Given the description of an element on the screen output the (x, y) to click on. 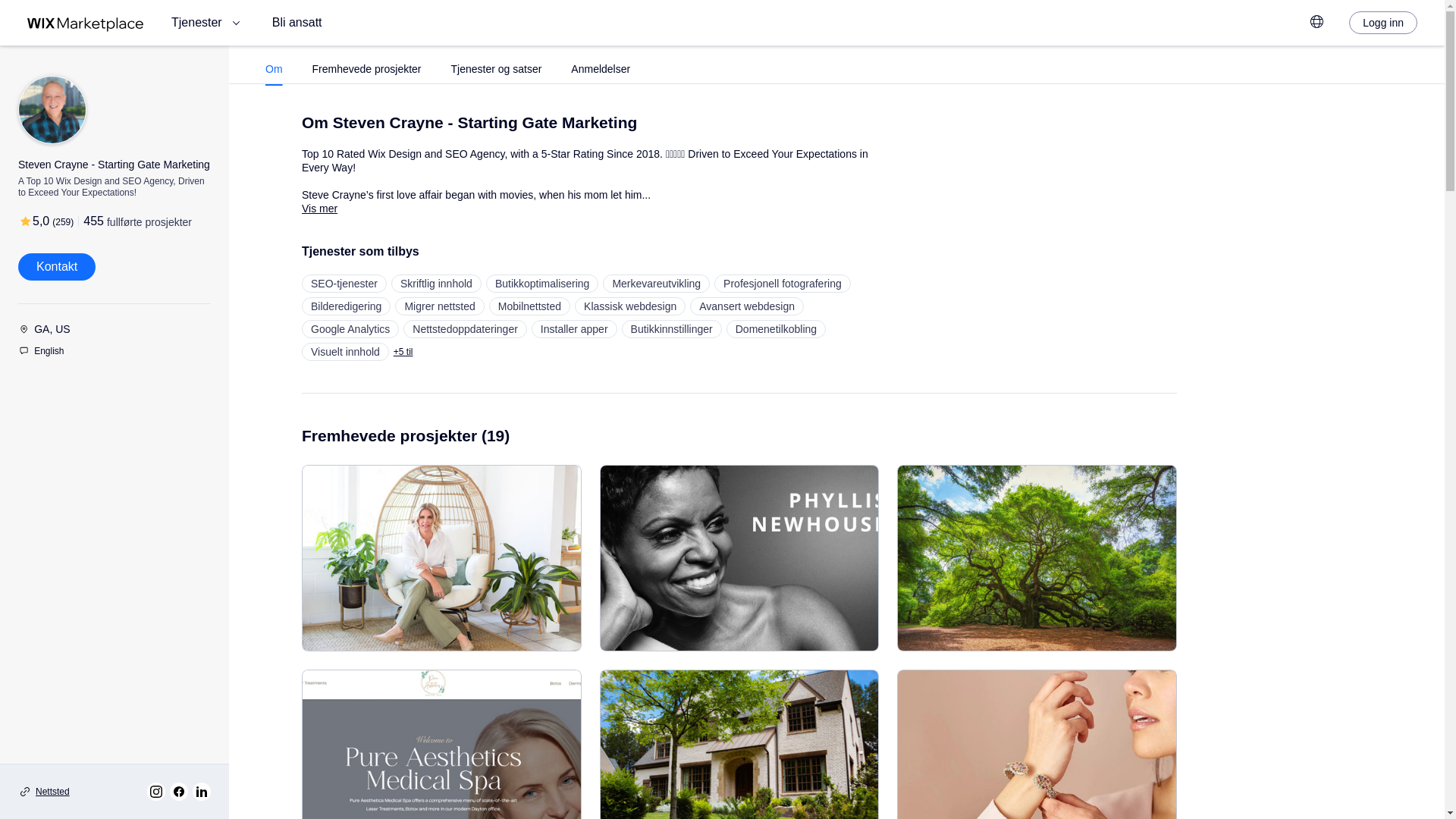
Logg inn (1382, 22)
Tjenester (207, 22)
Bli ansatt (296, 22)
